Given the description of an element on the screen output the (x, y) to click on. 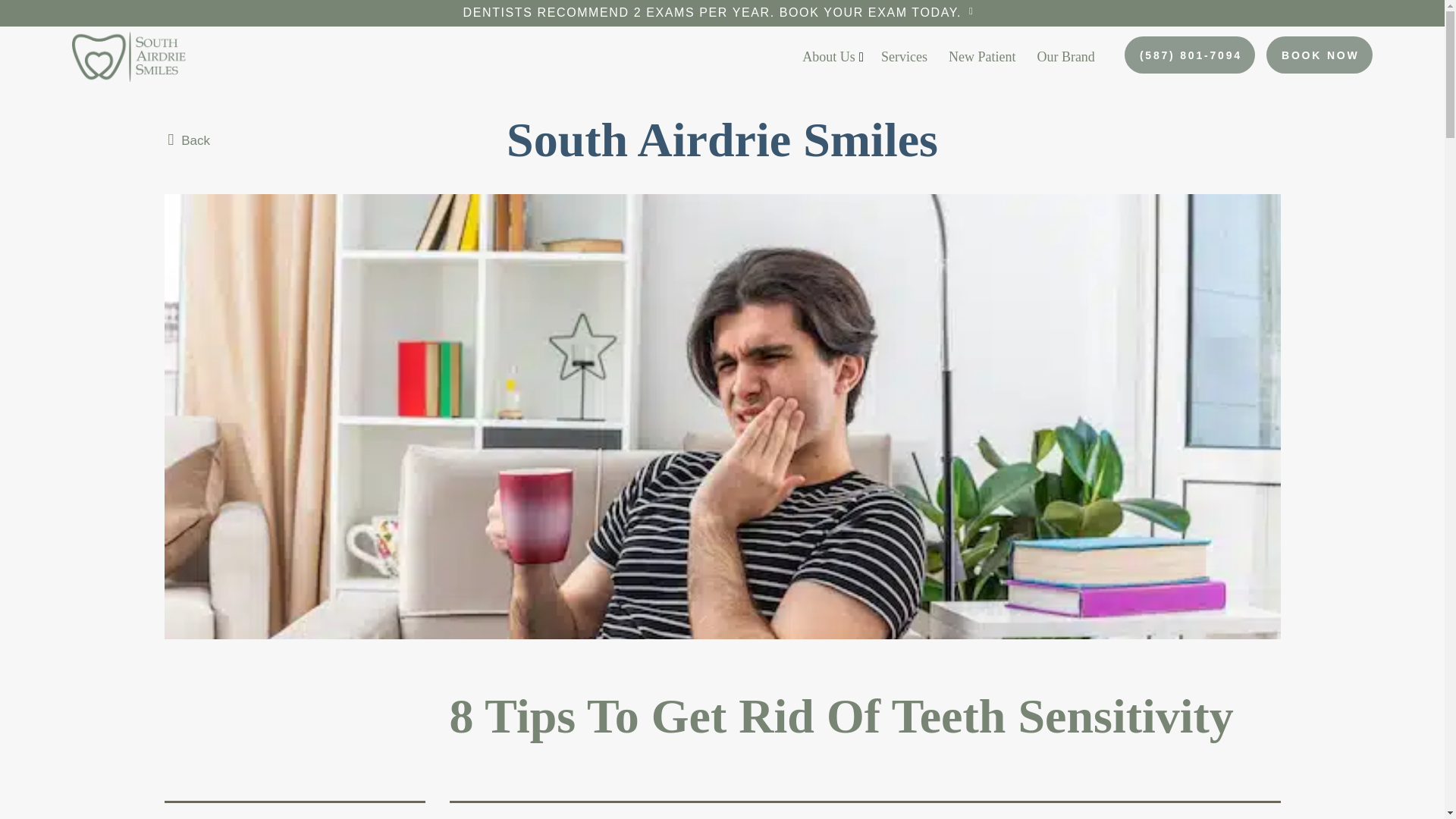
Services (904, 56)
About Us (830, 56)
Back (188, 139)
Share (1255, 817)
Our Brand (1064, 56)
BOOK NOW (1319, 54)
Tweet (722, 12)
New Patient (1190, 817)
